Given the description of an element on the screen output the (x, y) to click on. 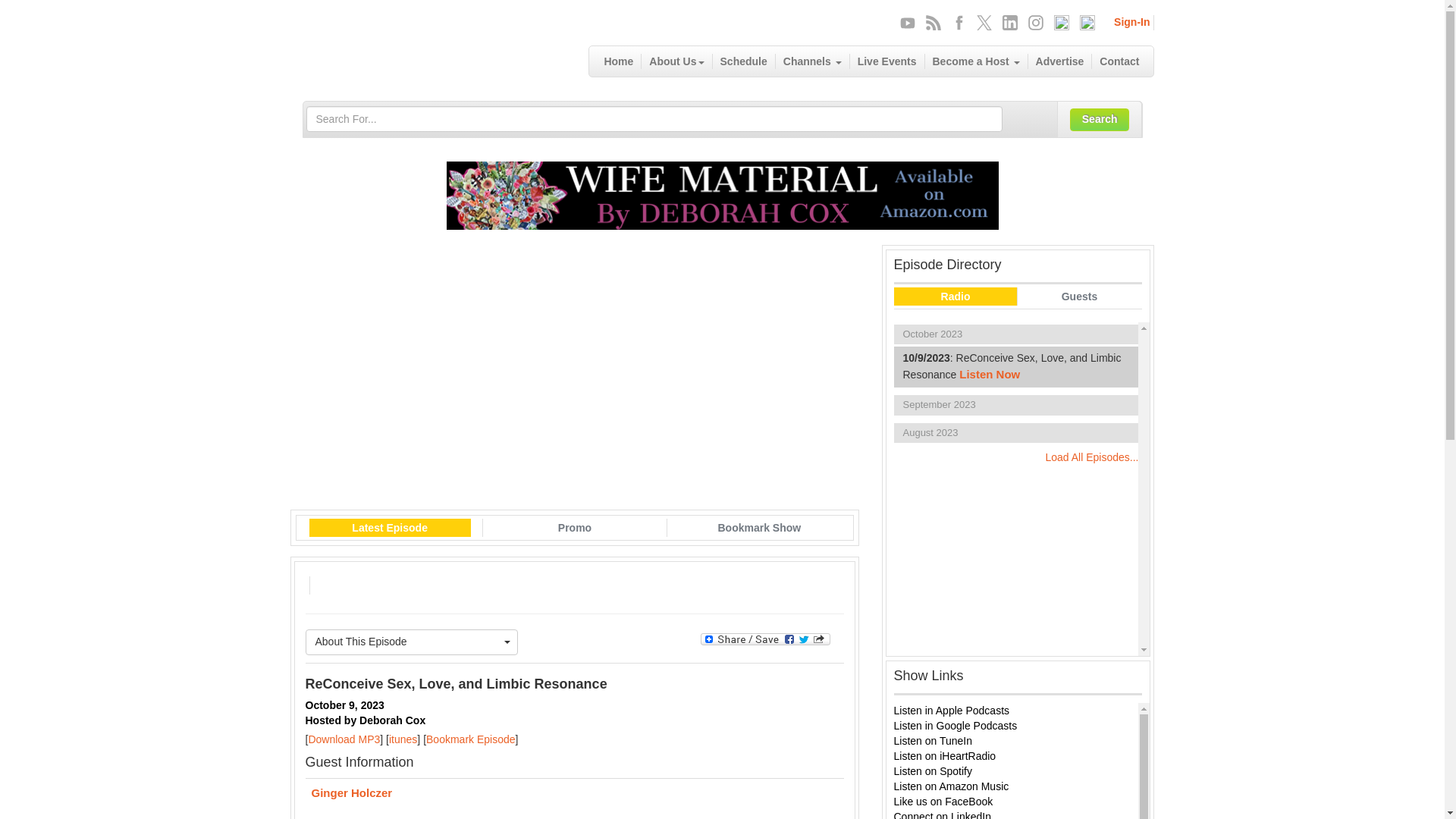
Search (1099, 119)
Become a Host (975, 61)
Advertise (1060, 61)
Promo (575, 527)
Sign-In (1131, 21)
About Us (676, 61)
Channels (813, 61)
Download MP3 (343, 739)
Schedule (744, 61)
itunes (402, 739)
Bookmark Show (759, 527)
Live Events (887, 61)
Ginger Holczer (573, 794)
Contact (1119, 61)
